Given the description of an element on the screen output the (x, y) to click on. 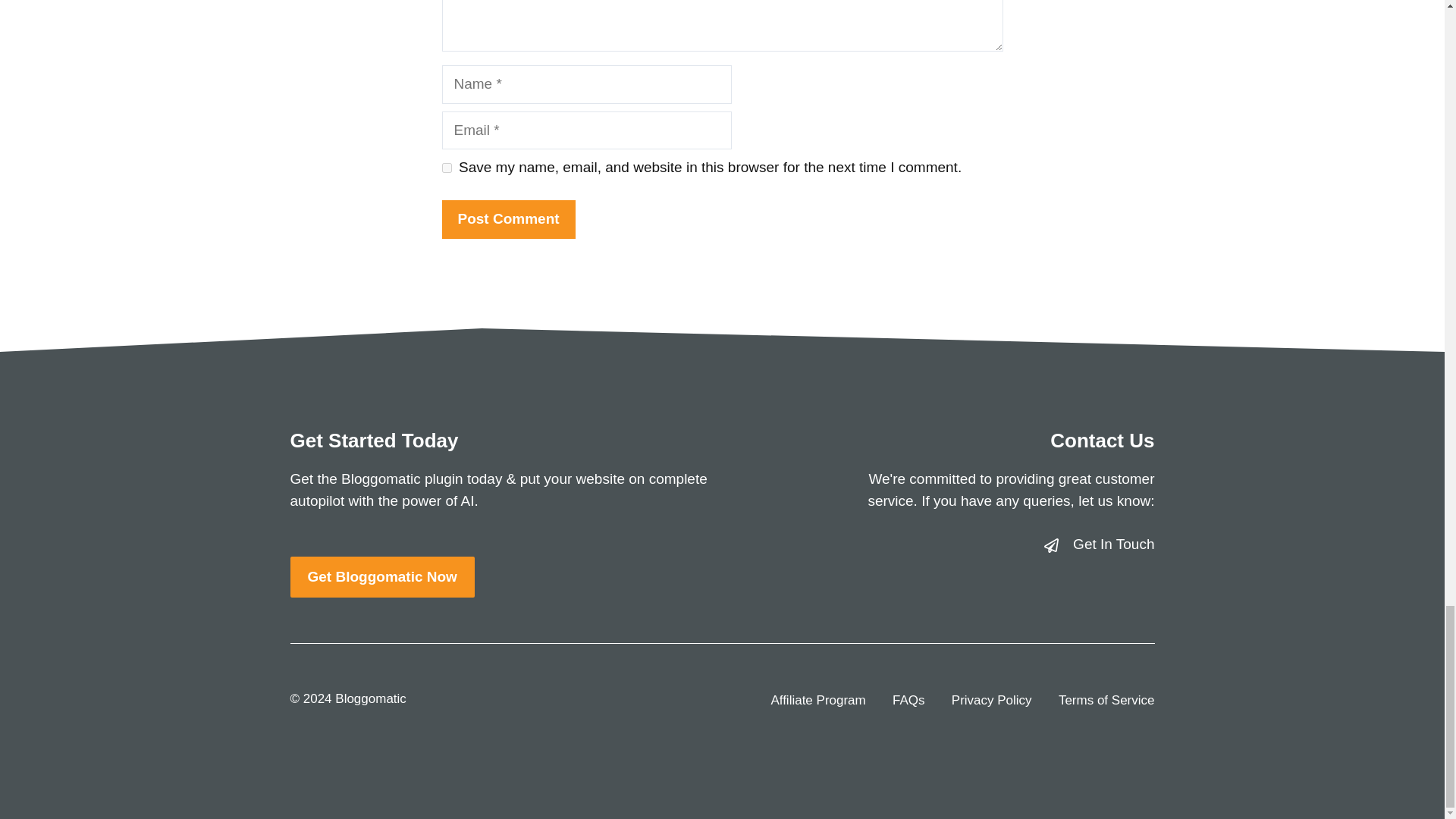
Terms of Service (1106, 700)
Affiliate Program (817, 700)
Post Comment (508, 219)
yes (446, 167)
Get Bloggomatic Now (381, 577)
Post Comment (508, 219)
Get In Touch (1113, 544)
FAQs (908, 700)
Privacy Policy (992, 700)
